Given the description of an element on the screen output the (x, y) to click on. 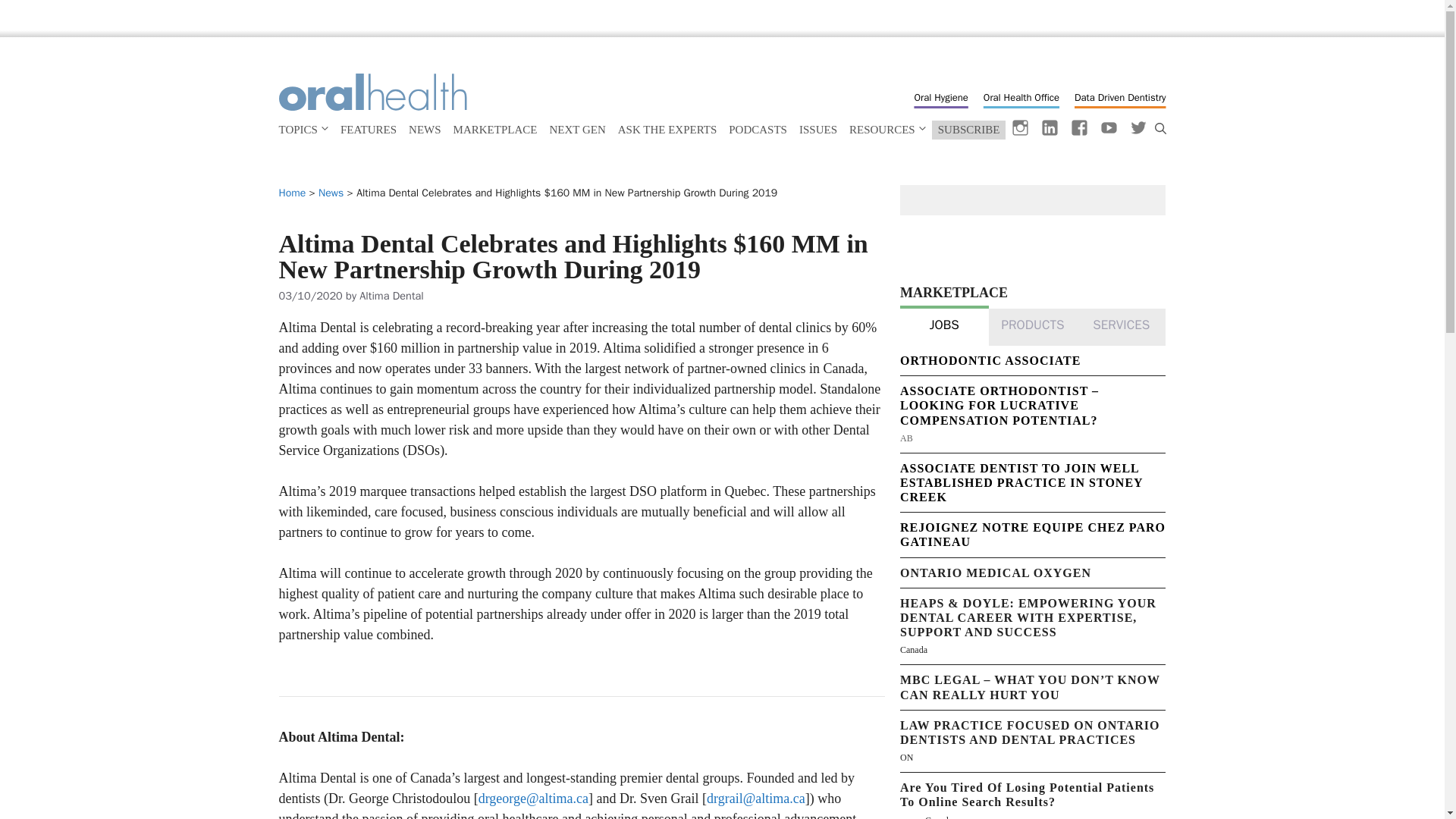
Data Driven Dentistry (1112, 96)
Oral Health Office (1013, 96)
Oral Hygiene (933, 96)
